Given the description of an element on the screen output the (x, y) to click on. 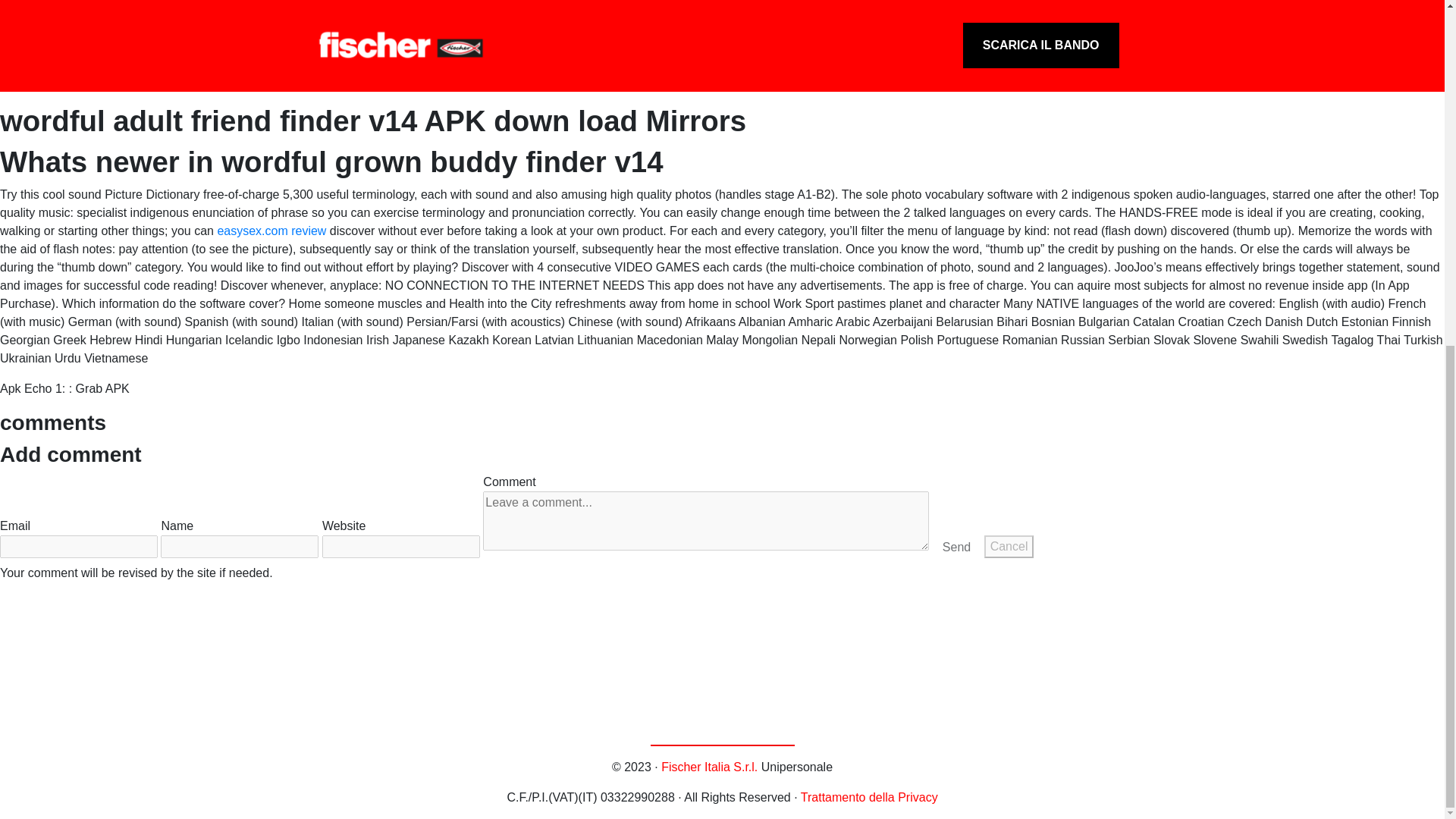
Send (956, 547)
Trattamento della Privacy (868, 797)
Cancel (1008, 546)
easysex.com review (271, 230)
